Given the description of an element on the screen output the (x, y) to click on. 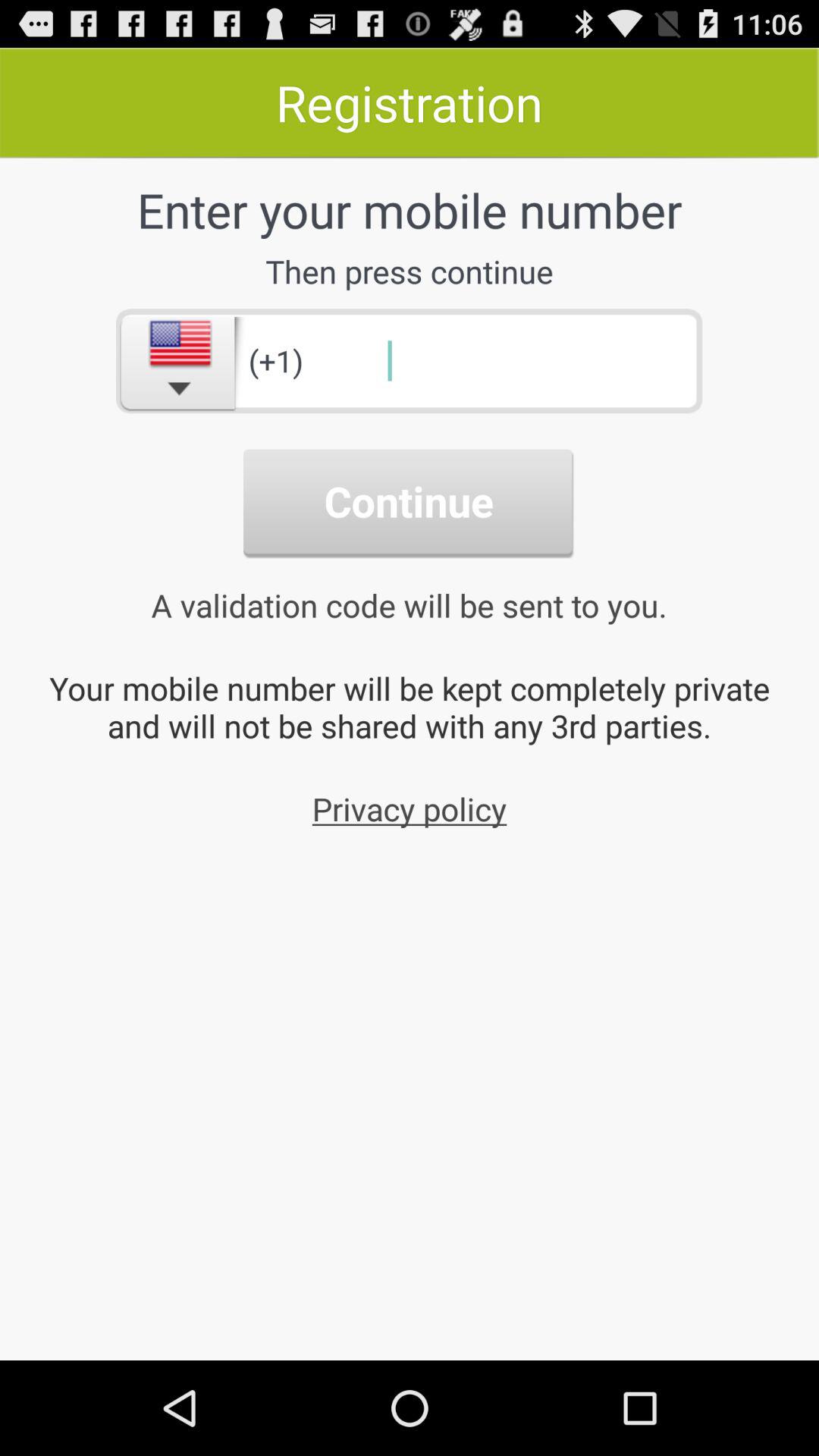
open item below the your mobile number app (409, 808)
